Given the description of an element on the screen output the (x, y) to click on. 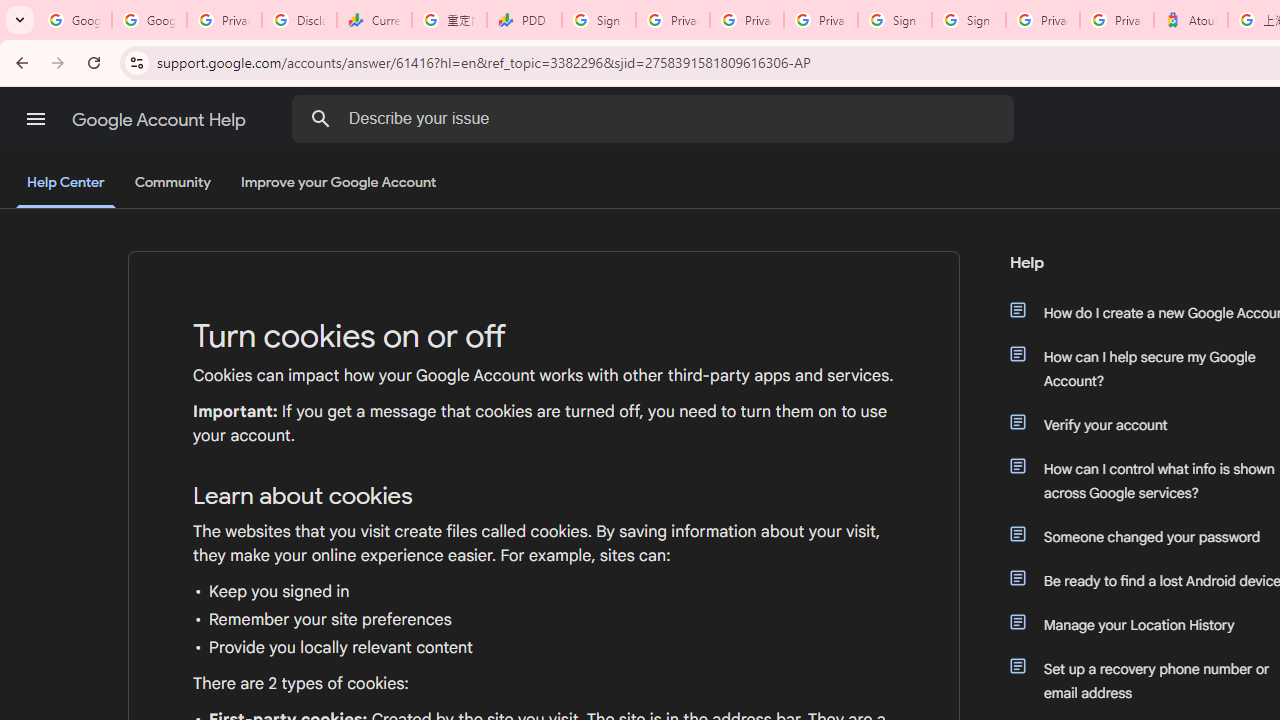
Describe your issue (655, 118)
Sign in - Google Accounts (968, 20)
